Given the description of an element on the screen output the (x, y) to click on. 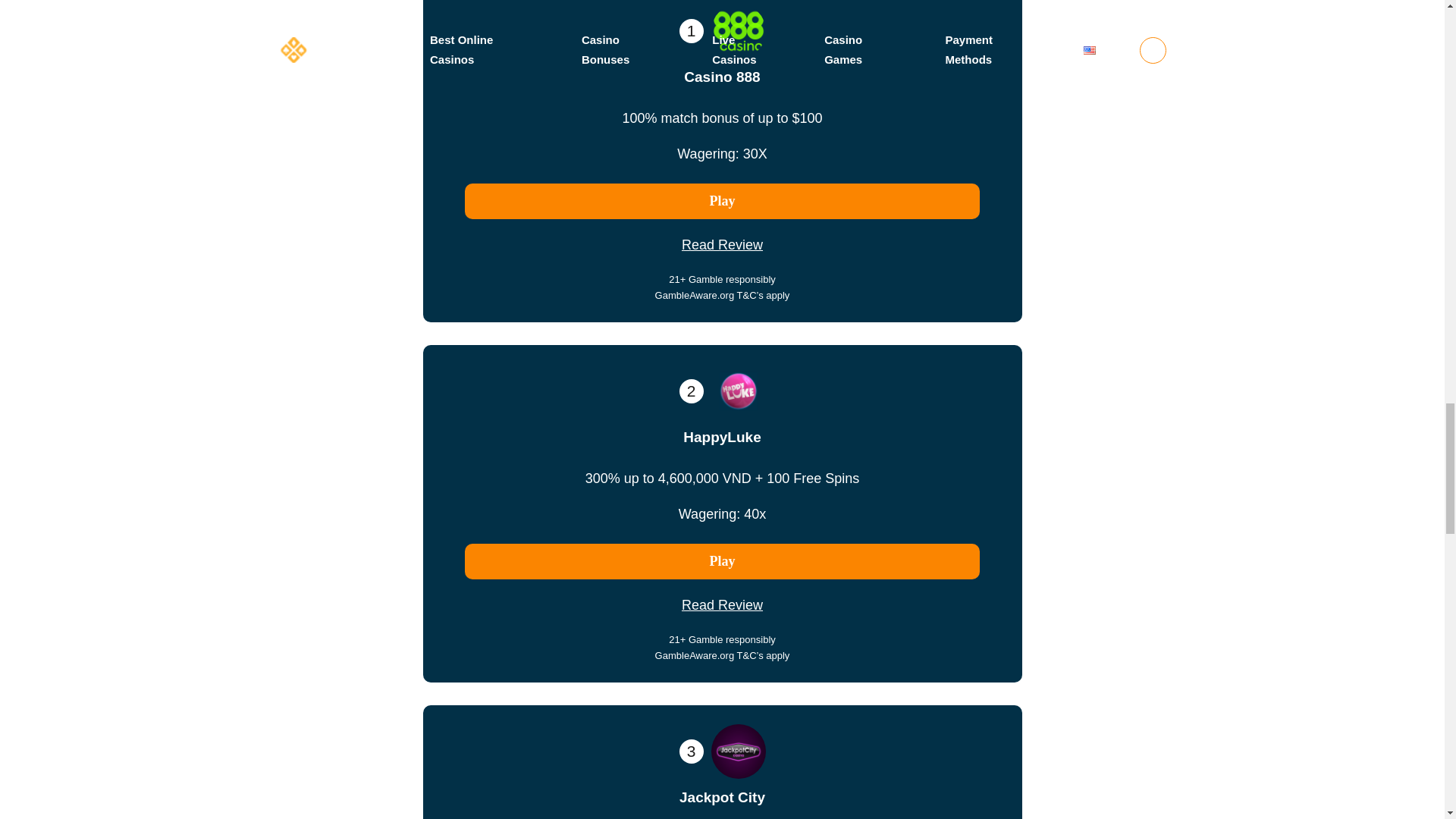
Happy Luke (721, 561)
Sportsbet (721, 201)
